Given the description of an element on the screen output the (x, y) to click on. 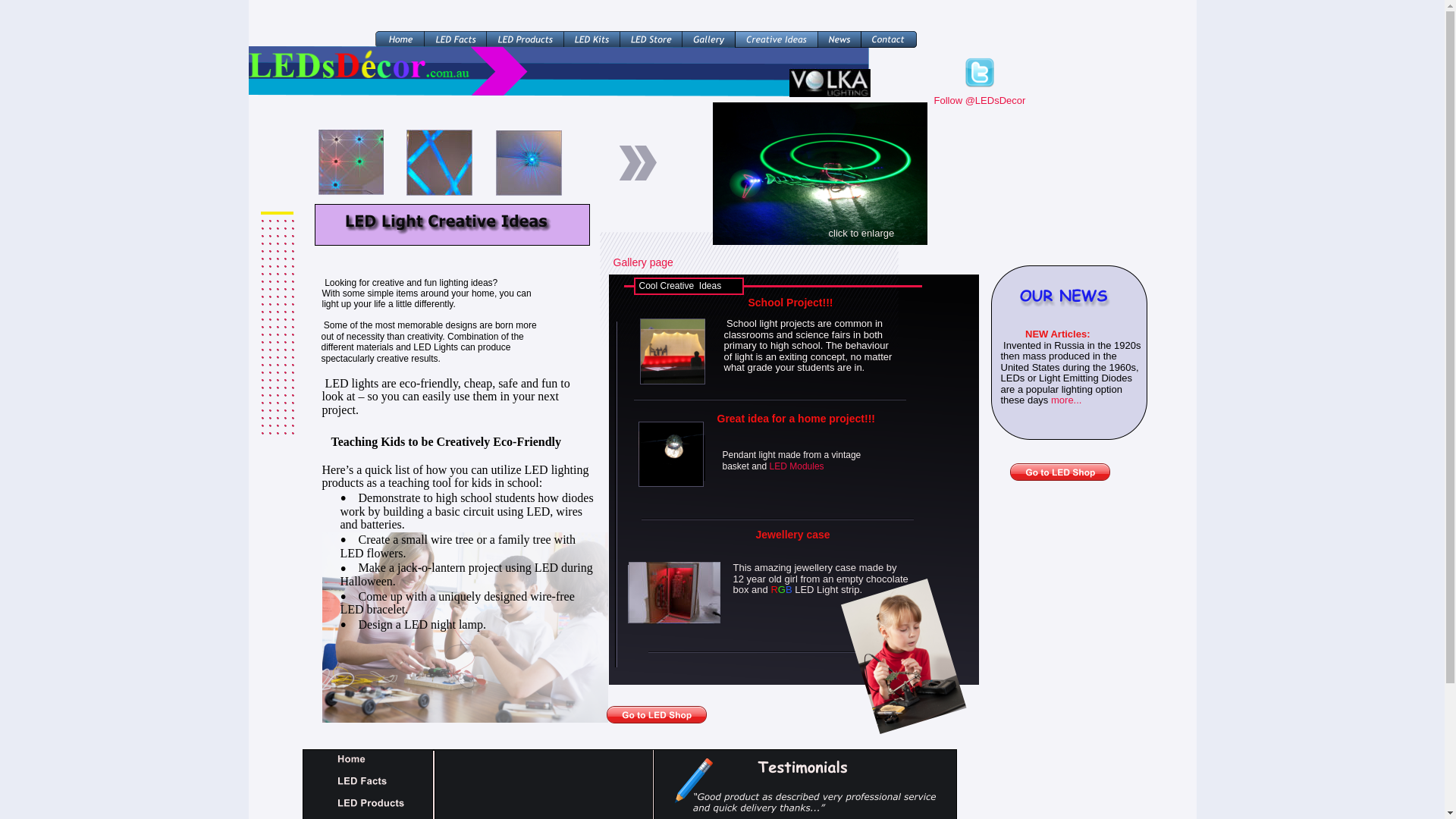
LED Modules Element type: text (796, 466)
click to enlarge Element type: hover (671, 453)
R Element type: text (773, 589)
LED Light strip. Element type: text (828, 589)
more... Element type: text (1066, 399)
G Element type: text (781, 589)
Follow @LEDsDecor Element type: text (980, 100)
B  Element type: text (789, 589)
Gallery page Element type: text (642, 262)
click to enlarge Element type: hover (673, 351)
